Given the description of an element on the screen output the (x, y) to click on. 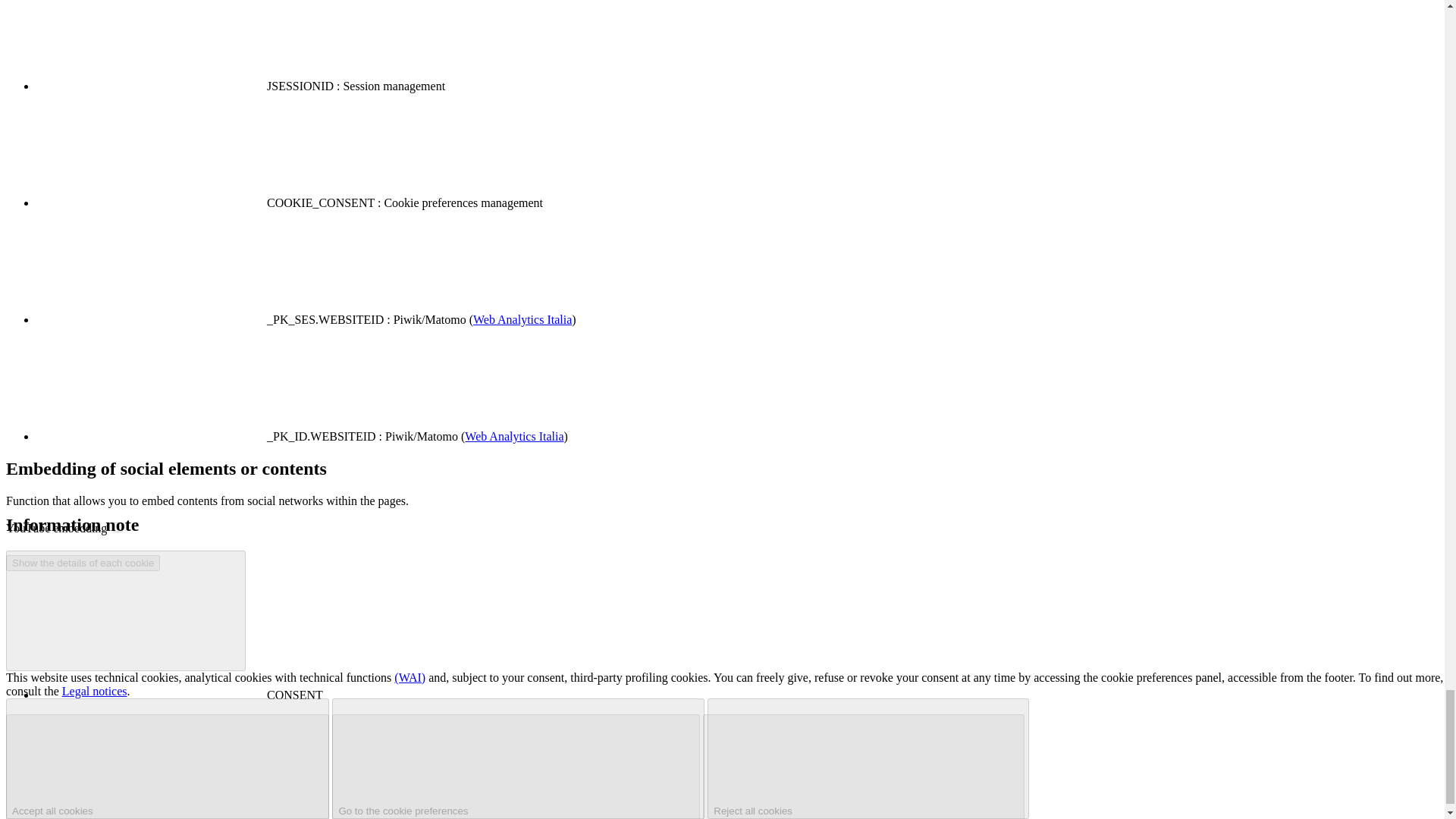
on (117, 527)
